Given the description of an element on the screen output the (x, y) to click on. 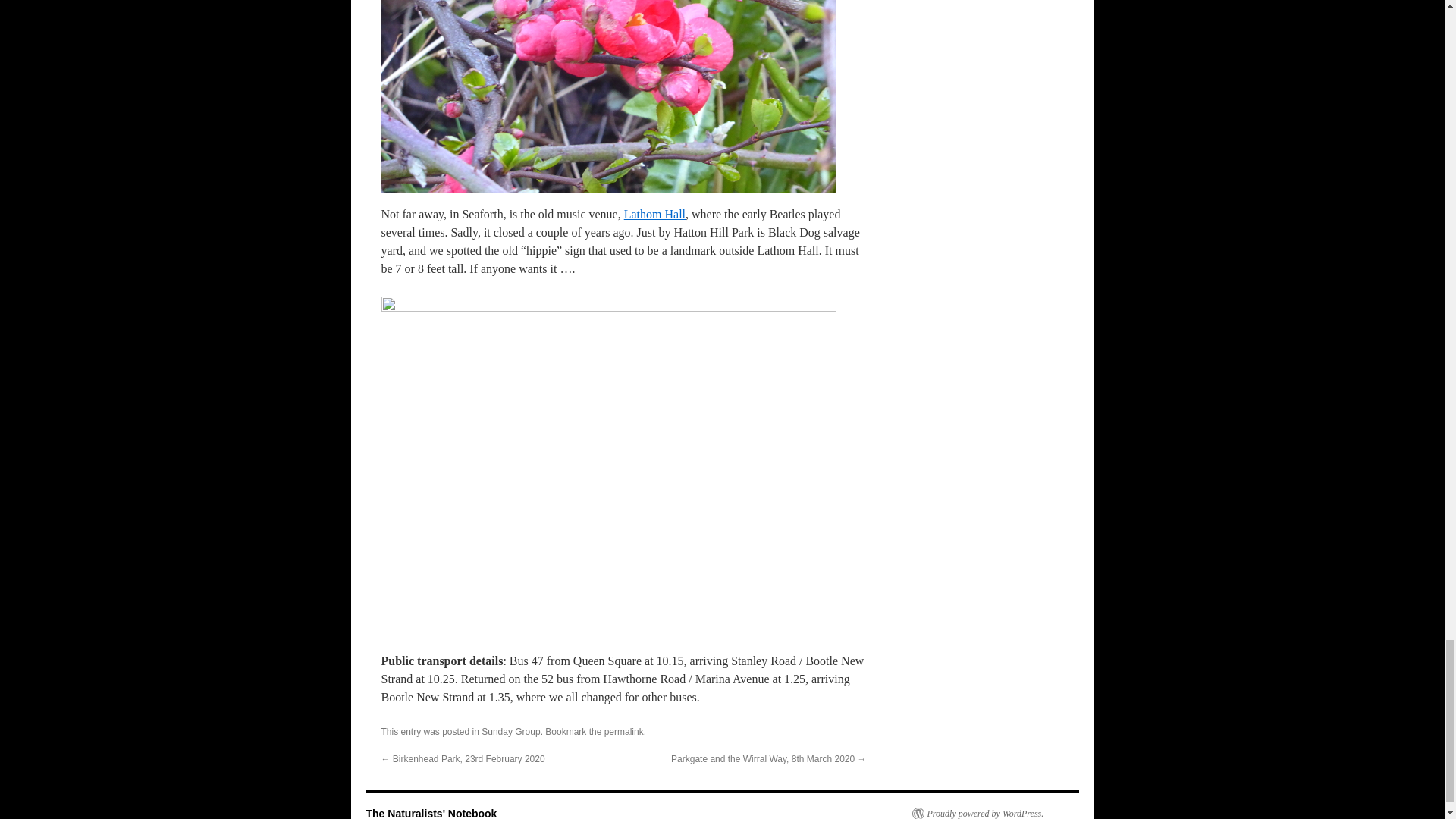
permalink (623, 731)
Sunday Group (510, 731)
Lathom Hall (654, 214)
